Given the description of an element on the screen output the (x, y) to click on. 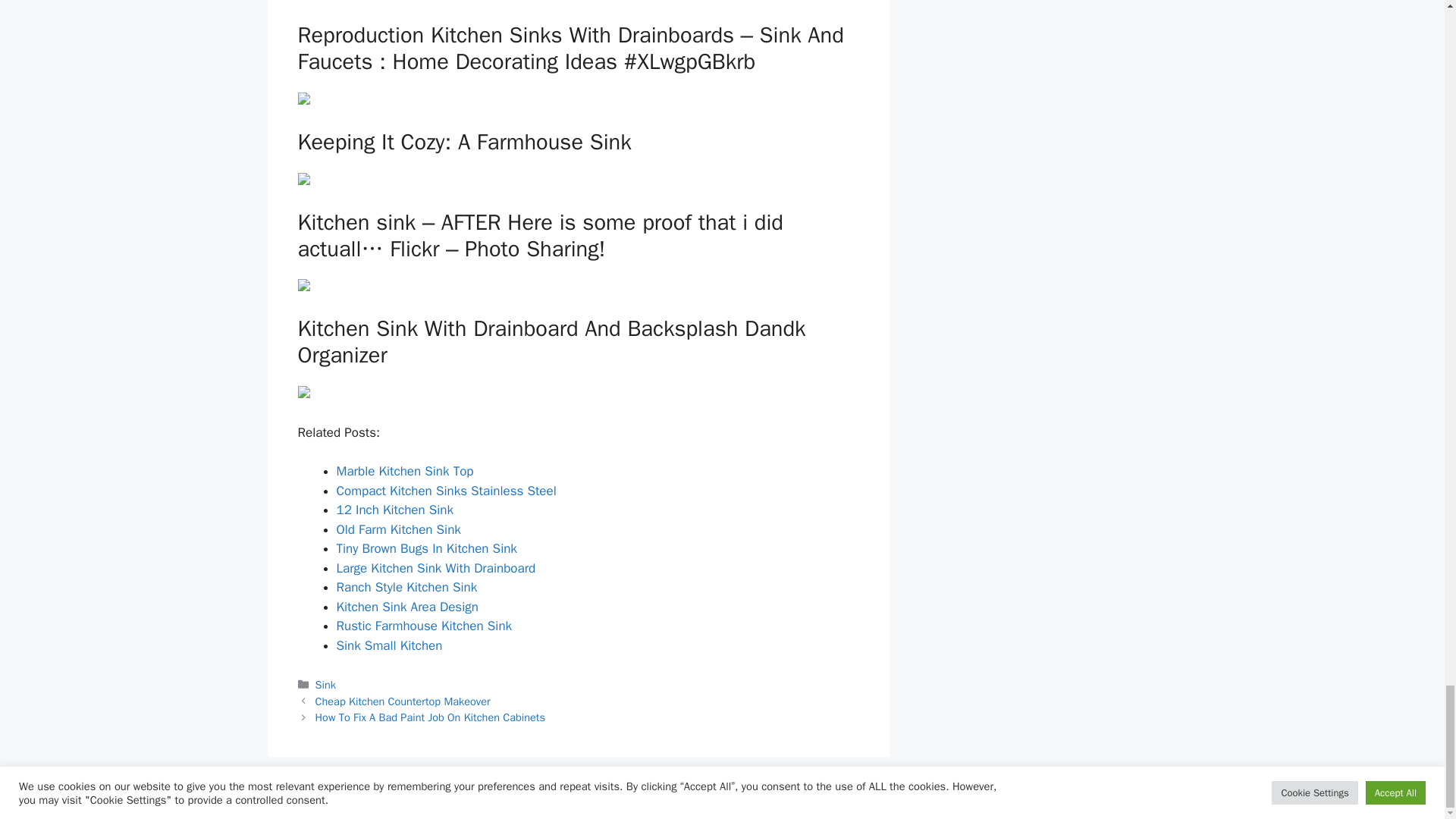
Kitchen Sink Area Design (407, 606)
Sink Small Kitchen (389, 644)
Compact Kitchen Sinks Stainless Steel (446, 489)
Sink (325, 684)
Old Farm Kitchen Sink (398, 529)
Cheap Kitchen Countertop Makeover (402, 701)
kaptenmods.com (818, 795)
Ranch Style Kitchen Sink (406, 587)
Large Kitchen Sink With Drainboard (435, 567)
Rustic Farmhouse Kitchen Sink (424, 625)
How To Fix A Bad Paint Job On Kitchen Cabinets (429, 716)
12 Inch Kitchen Sink (395, 509)
Marble Kitchen Sink Top (405, 471)
Tiny Brown Bugs In Kitchen Sink (426, 548)
